Given the description of an element on the screen output the (x, y) to click on. 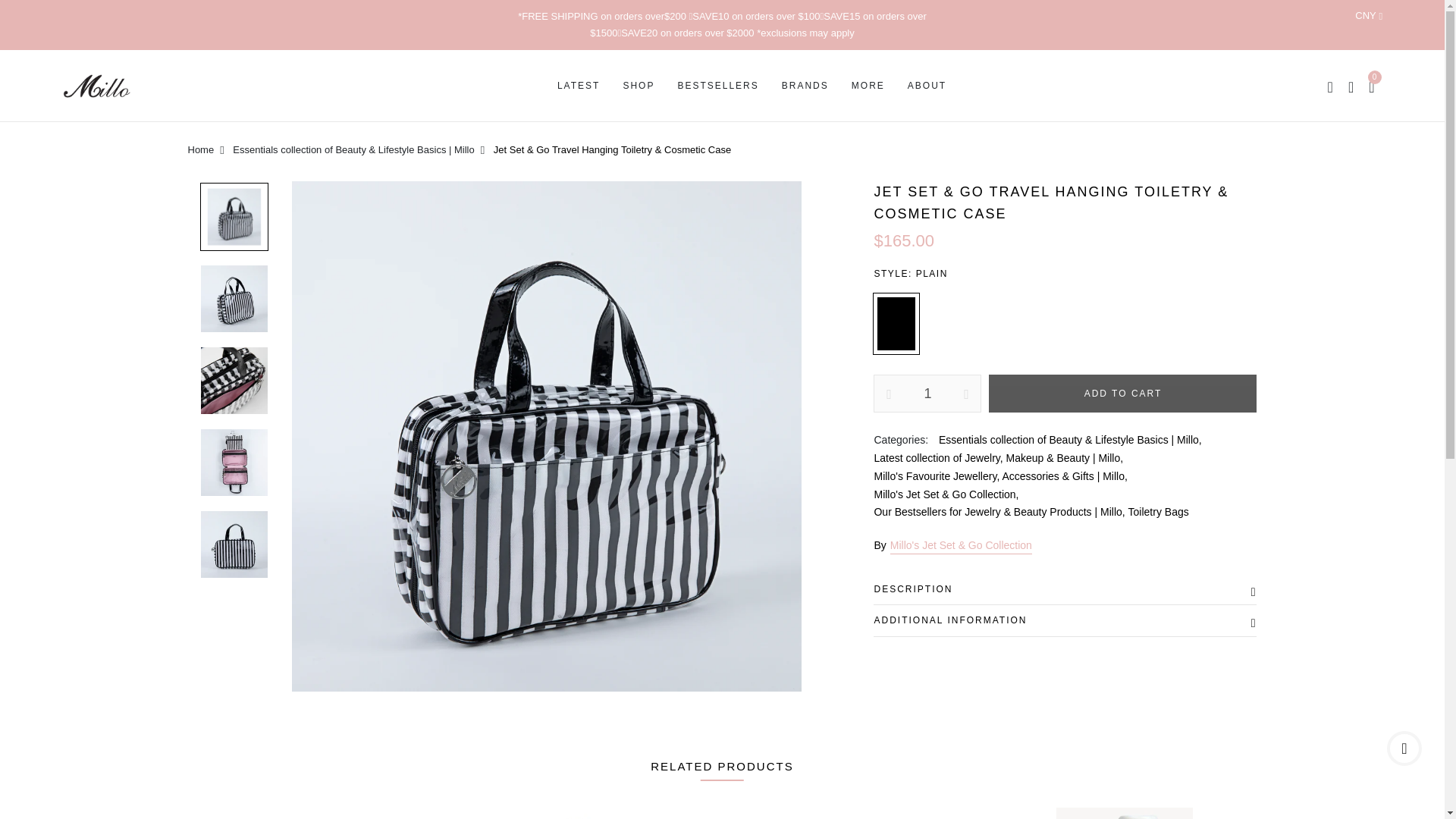
1 (927, 393)
